Given the description of an element on the screen output the (x, y) to click on. 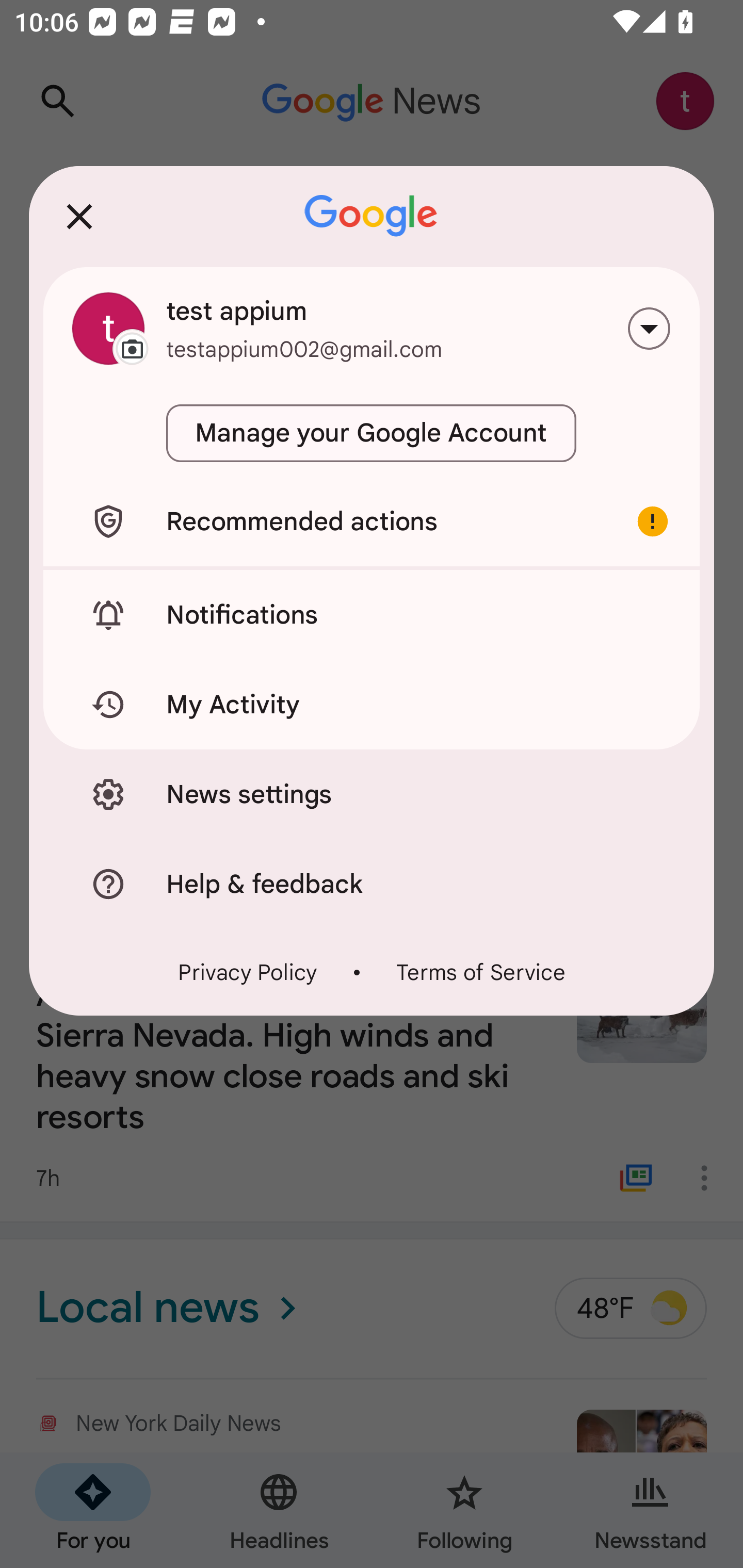
Close (79, 216)
Change profile picture. (108, 328)
Manage your Google Account (371, 433)
Recommended actions Important account alert (371, 521)
Notifications (371, 614)
My Activity (371, 704)
News settings (371, 793)
Help & feedback (371, 883)
Privacy Policy (247, 972)
Terms of Service (479, 972)
